Given the description of an element on the screen output the (x, y) to click on. 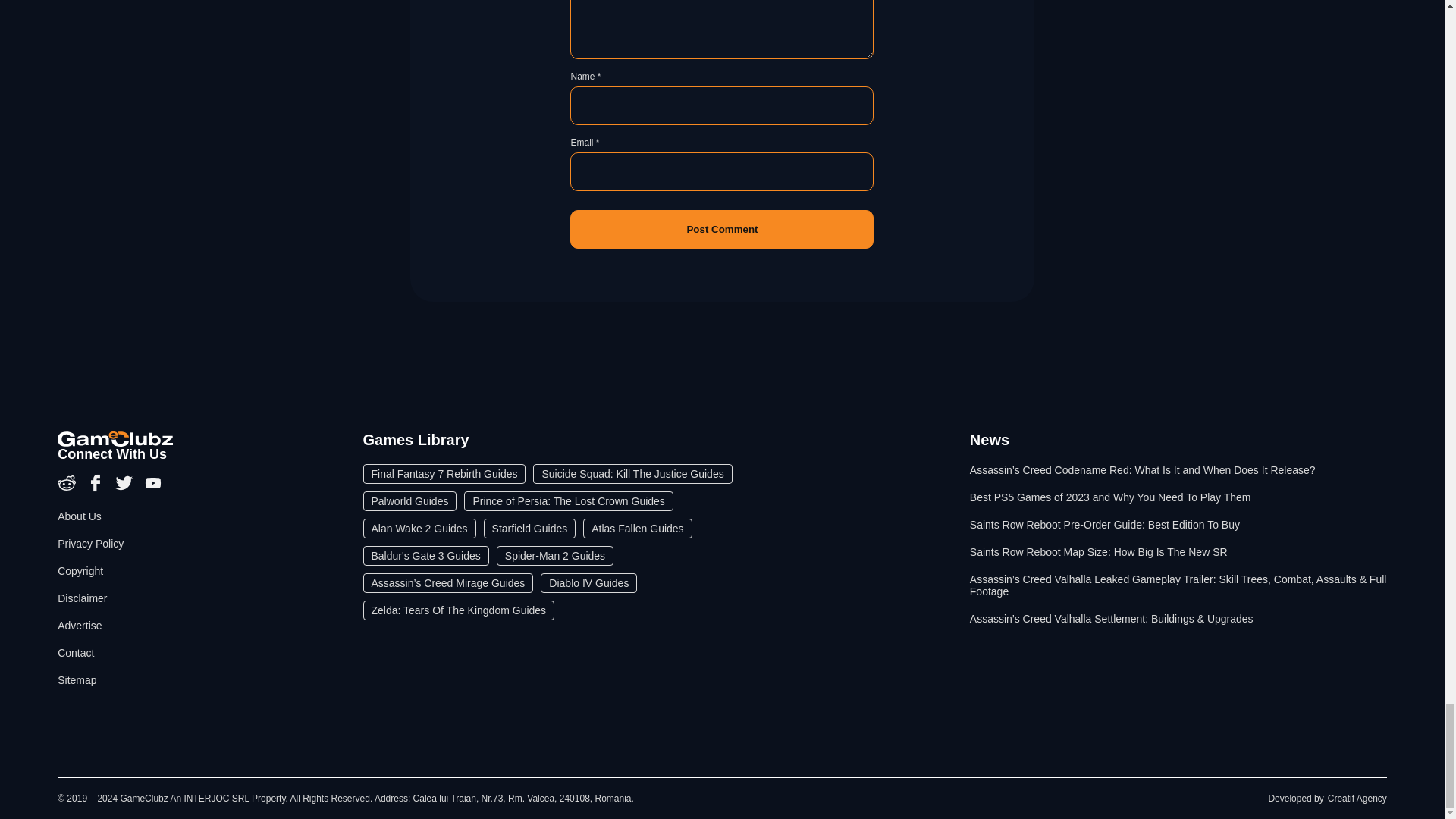
twitter (125, 488)
facebook (96, 488)
instagram (68, 488)
Post Comment (721, 228)
youtube (152, 488)
Post Comment (721, 228)
Creatif Agency web design (1357, 798)
